Given the description of an element on the screen output the (x, y) to click on. 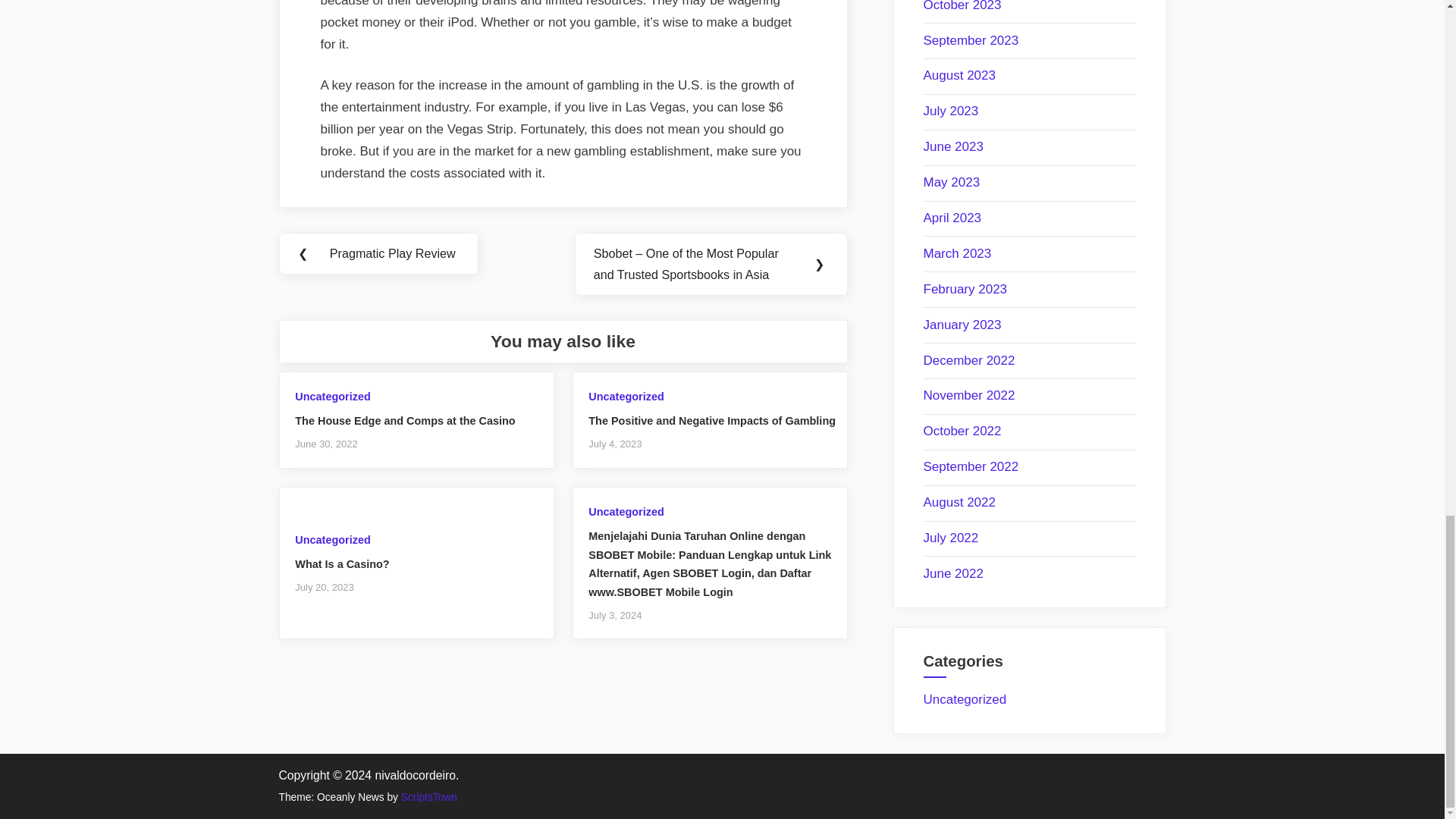
Uncategorized (625, 396)
Uncategorized (332, 396)
What Is a Casino? (341, 563)
October 2023 (962, 6)
August 2023 (959, 74)
Uncategorized (625, 511)
September 2023 (971, 40)
Uncategorized (332, 539)
The Positive and Negative Impacts of Gambling (711, 420)
The House Edge and Comps at the Casino (405, 420)
